Given the description of an element on the screen output the (x, y) to click on. 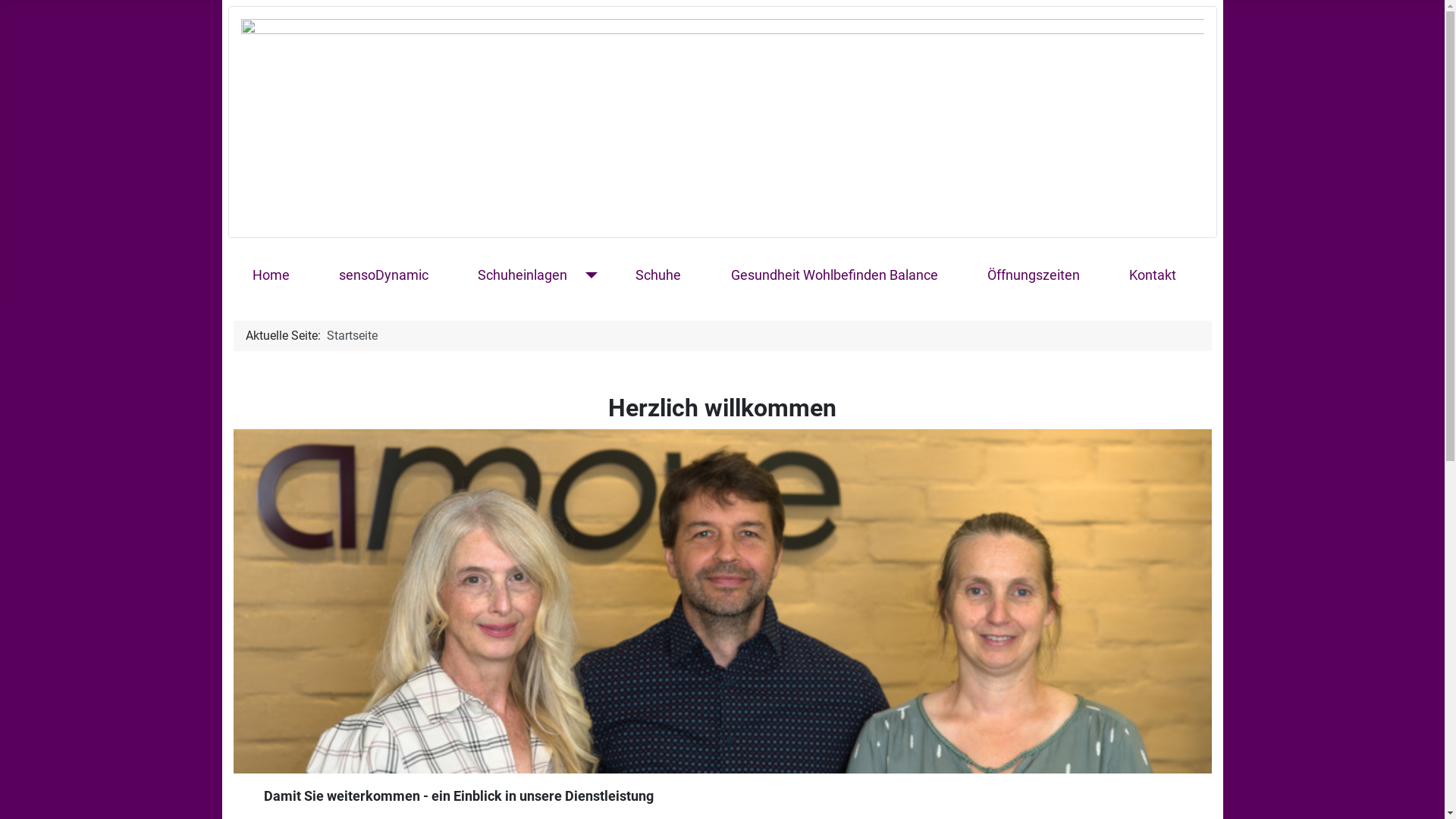
Kontakt Element type: text (1152, 275)
Home Element type: text (271, 275)
Gesundheit Wohlbefinden Balance Element type: text (834, 275)
Schuhe Element type: text (658, 275)
amove Element type: hover (722, 114)
Schuheinlagen Element type: text (522, 275)
sensoDynamic Element type: text (383, 275)
